Given the description of an element on the screen output the (x, y) to click on. 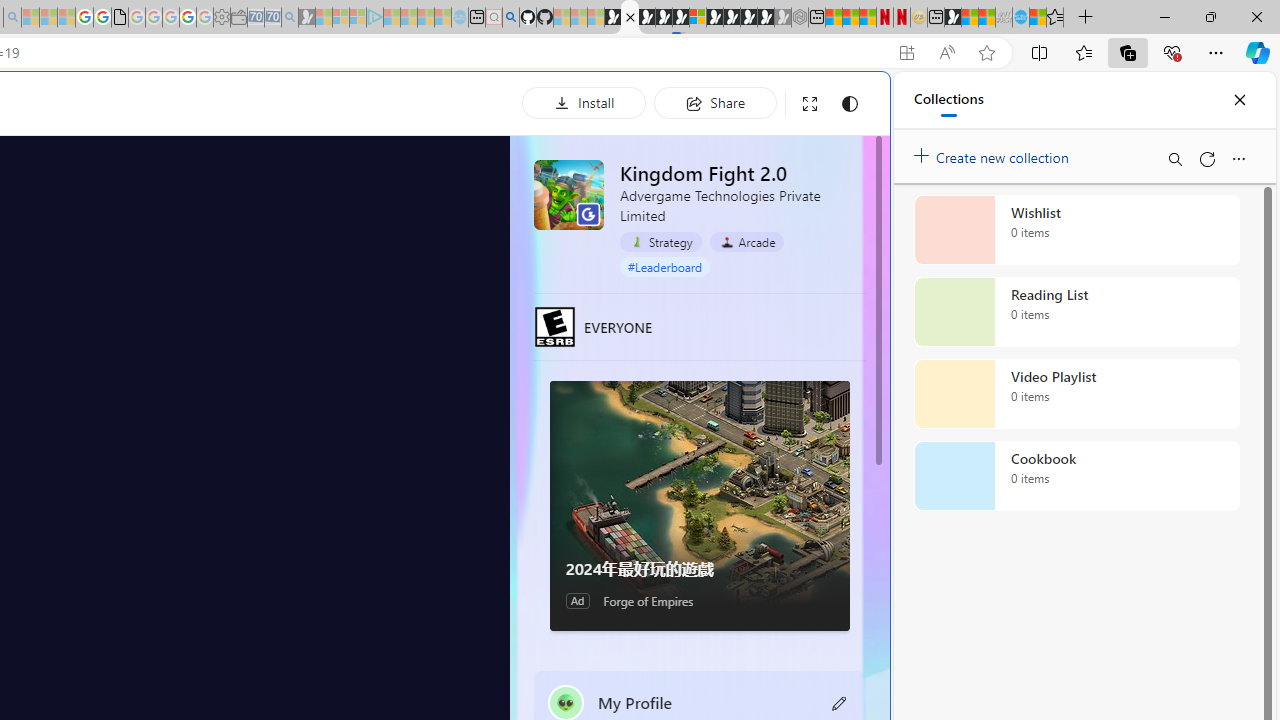
Arcade (746, 241)
Kingdom Fight 2.0 (568, 194)
Services - Maintenance | Sky Blue Bikes - Sky Blue Bikes (1020, 17)
